Given the description of an element on the screen output the (x, y) to click on. 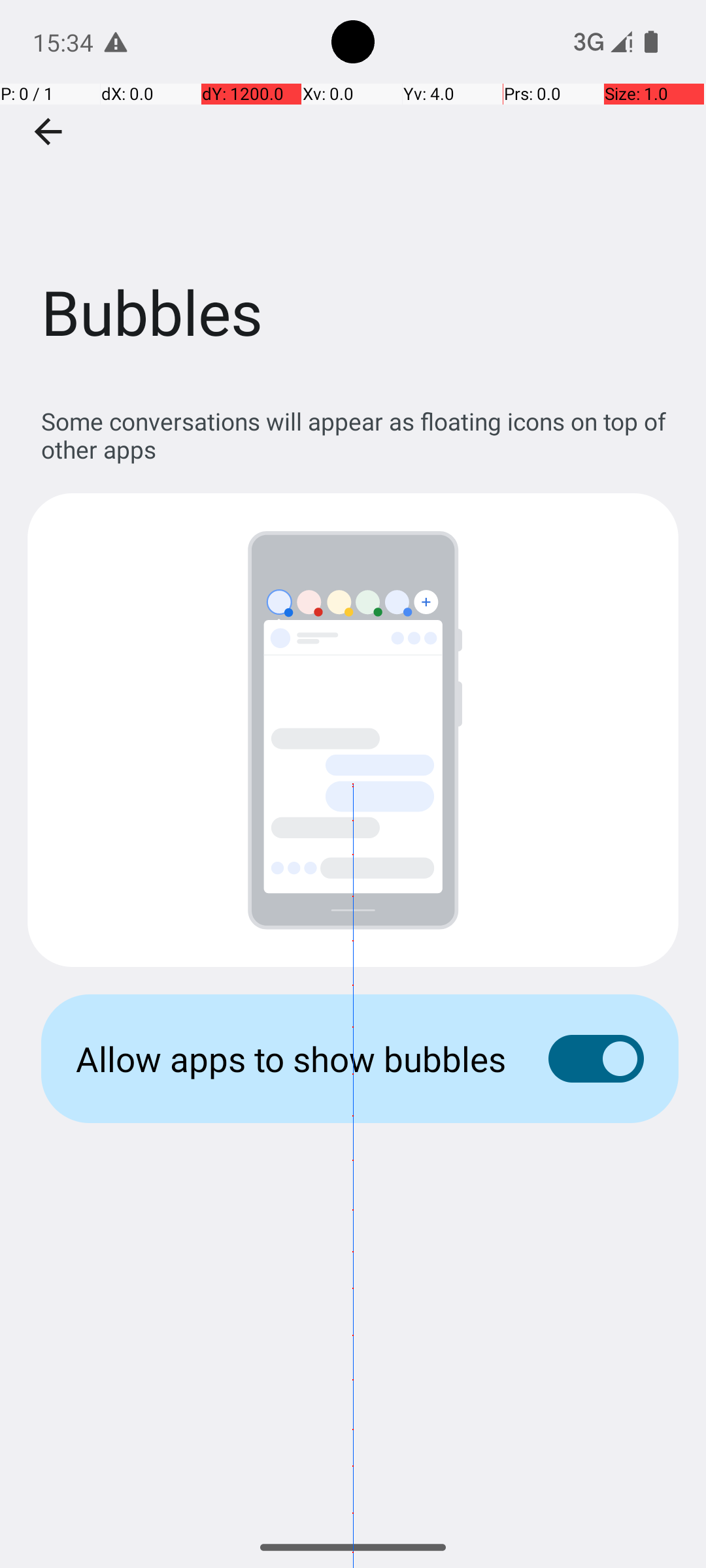
Bubbles Element type: android.widget.FrameLayout (353, 195)
Some conversations will appear as floating icons on top of other apps Element type: android.widget.TextView (359, 434)
Allow apps to show bubbles Element type: android.widget.TextView (291, 1058)
